Given the description of an element on the screen output the (x, y) to click on. 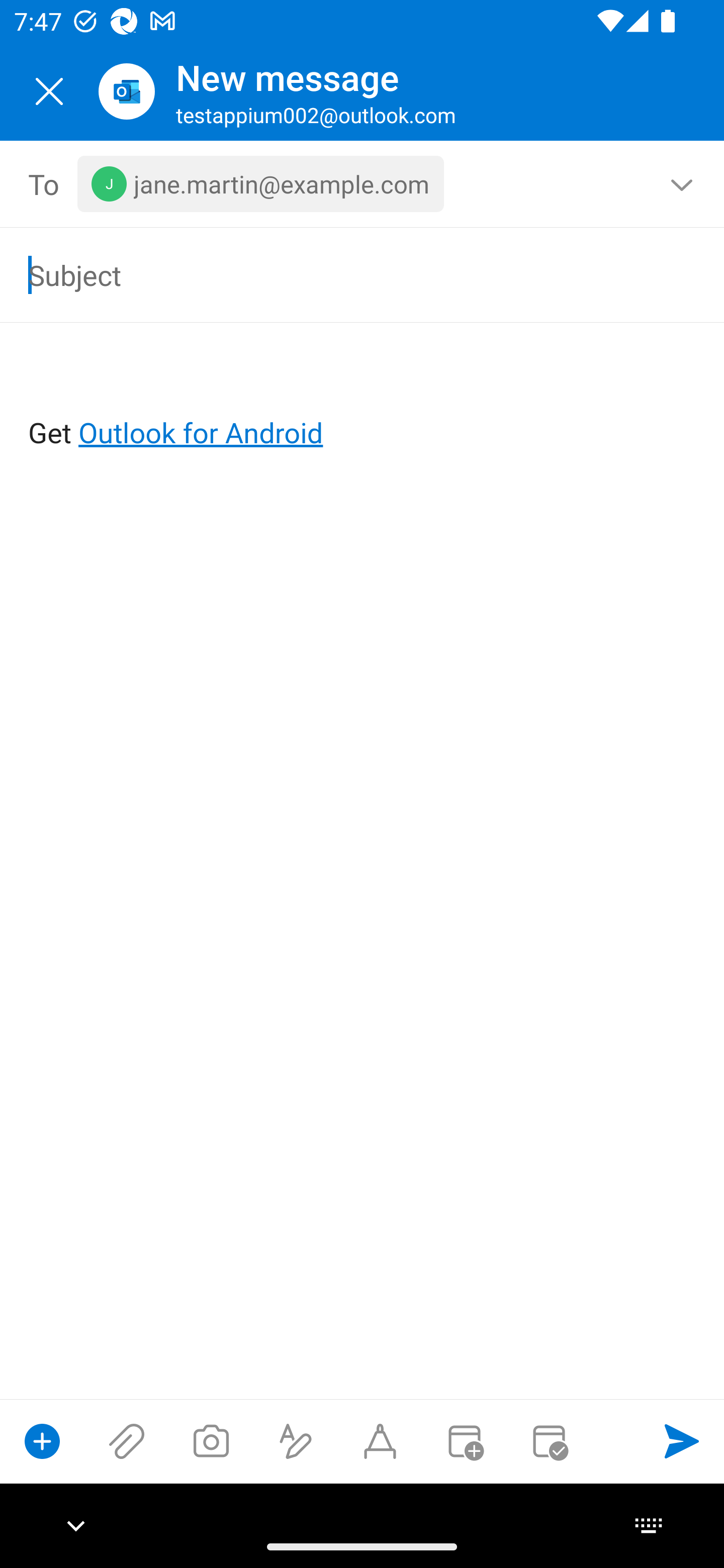
Close (49, 91)
To, 1 recipient <jane.martin@example.com> (362, 184)
Subject (333, 274)


Get Outlook for Android (363, 400)
Show compose options (42, 1440)
Attach files (126, 1440)
Take a photo (210, 1440)
Show formatting options (295, 1440)
Start Ink compose (380, 1440)
Convert to event (464, 1440)
Send availability (548, 1440)
Send (681, 1440)
